Given the description of an element on the screen output the (x, y) to click on. 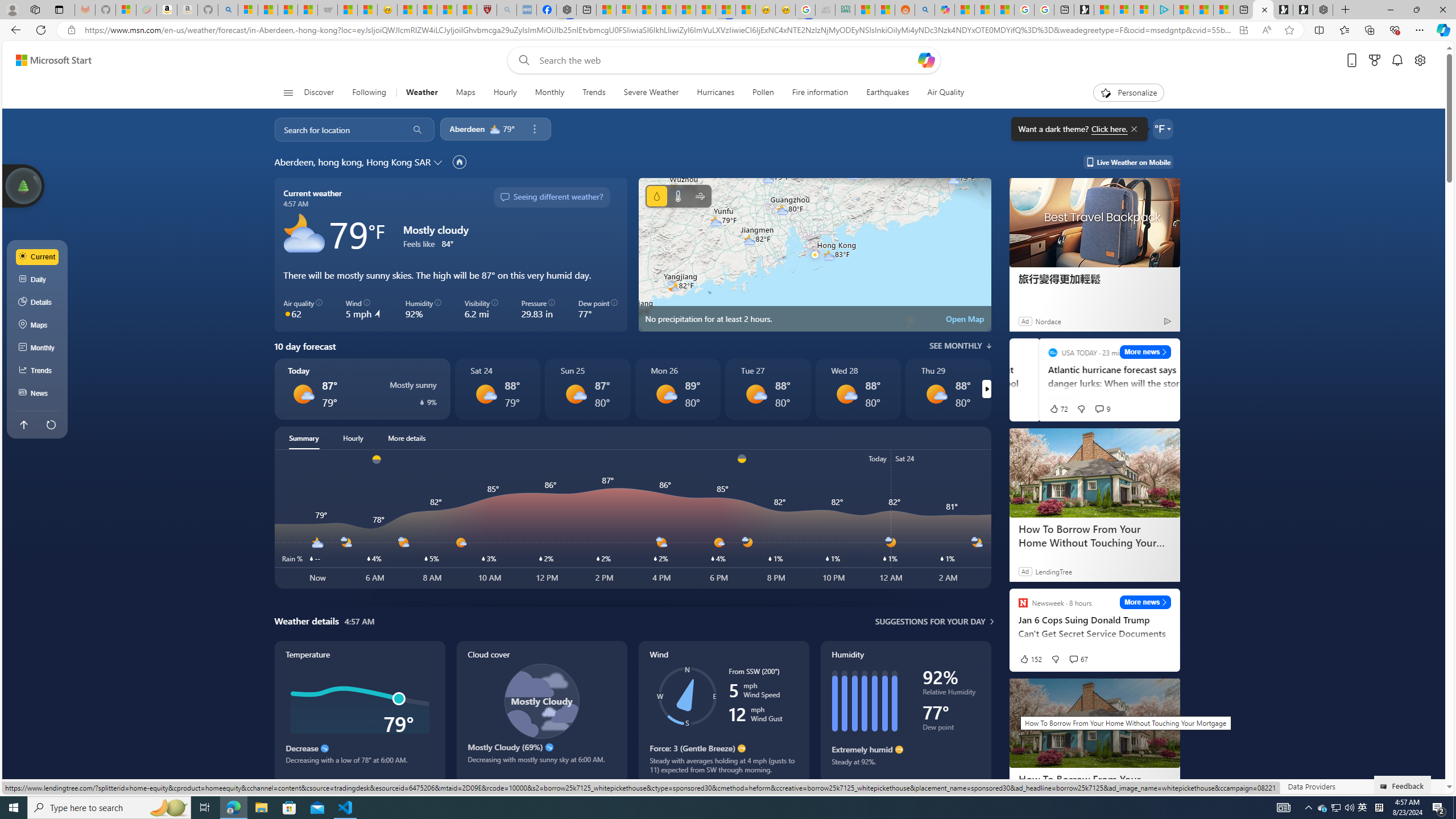
Earthquakes (887, 92)
How To Borrow From Your Home Without Touching Your Mortgage (1094, 723)
Precipitation (656, 195)
Join us in planting real trees to help our planet! (23, 185)
Class: BubbleMessageCloseIcon-DS-EntryPoint1-1 (1133, 128)
Daily (37, 279)
Aberdeen, hong kong, Hong Kong SAR (351, 161)
Temperature (359, 711)
Open navigation menu (287, 92)
